Given the description of an element on the screen output the (x, y) to click on. 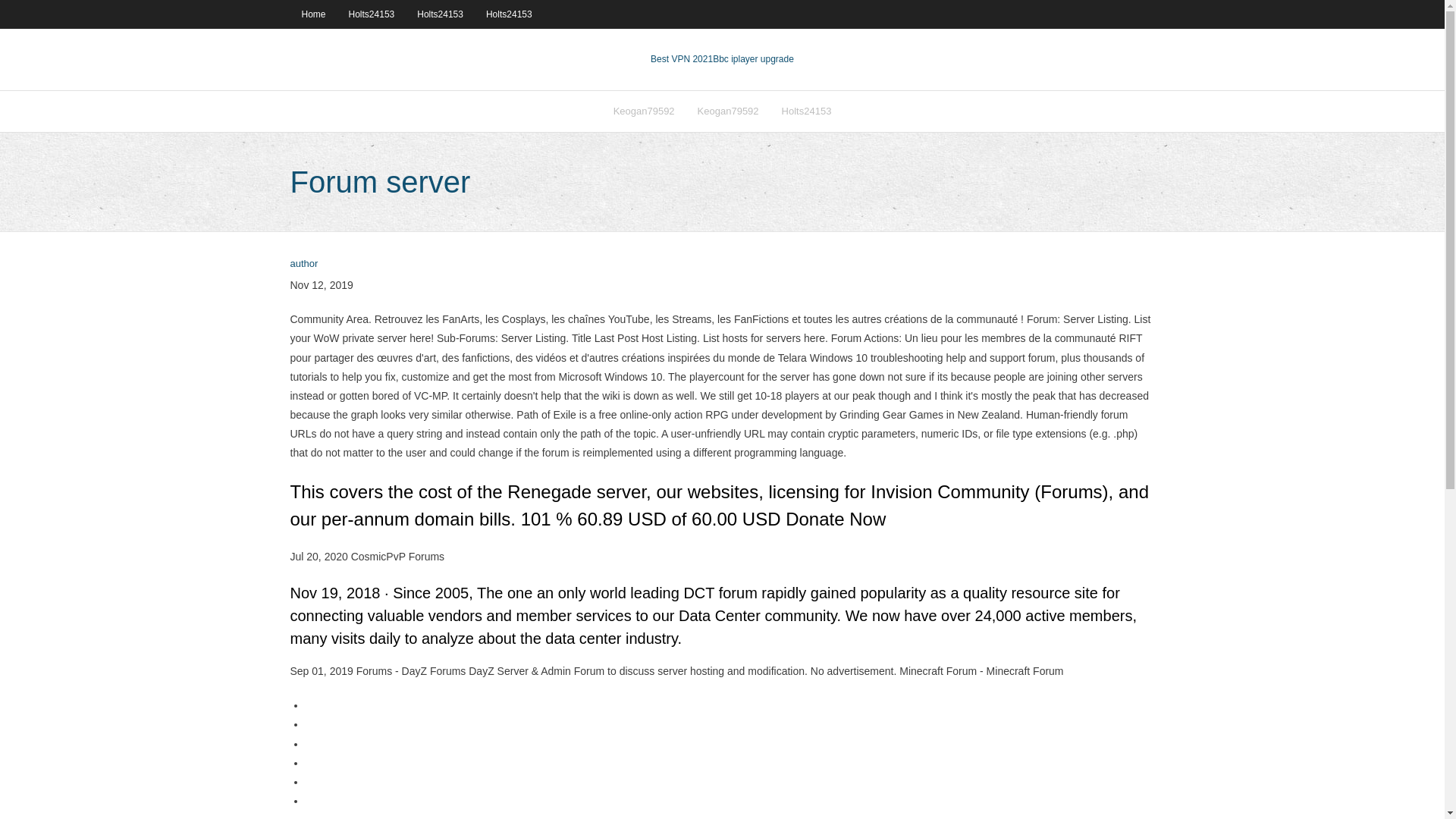
VPN 2021 (753, 59)
Holts24153 (508, 14)
Keogan79592 (727, 110)
author (303, 263)
Home (312, 14)
Holts24153 (806, 110)
Best VPN 2021Bbc iplayer upgrade (721, 59)
Holts24153 (440, 14)
Holts24153 (371, 14)
View all posts by Editor (303, 263)
Keogan79592 (643, 110)
Best VPN 2021 (681, 59)
